Given the description of an element on the screen output the (x, y) to click on. 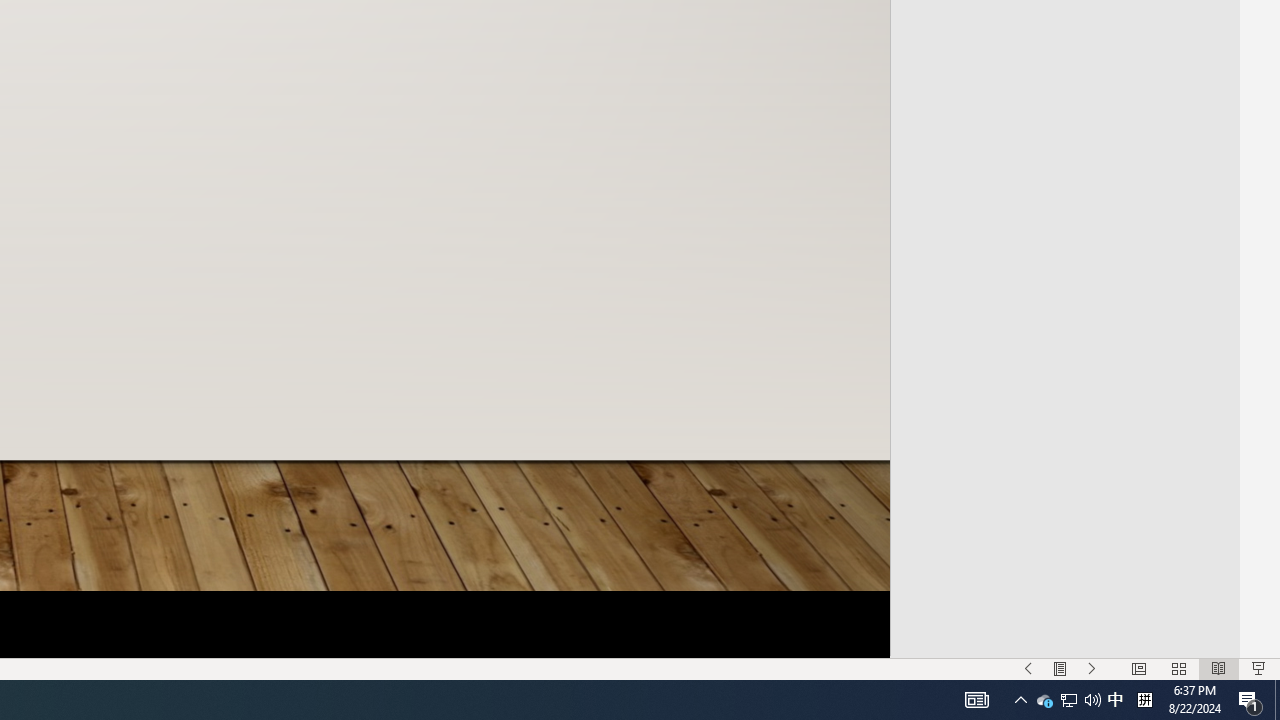
Slide Show Previous On (1028, 668)
Chinese (Literary) (1063, 146)
Divehi (1063, 434)
Menu On (1060, 668)
Czech (1063, 310)
Faroese (1063, 639)
Chinese Traditional (1063, 228)
Slide Show Next On (1092, 668)
Dari (1063, 392)
Dutch (1063, 516)
Danish (1063, 351)
Catalan (1063, 64)
